Given the description of an element on the screen output the (x, y) to click on. 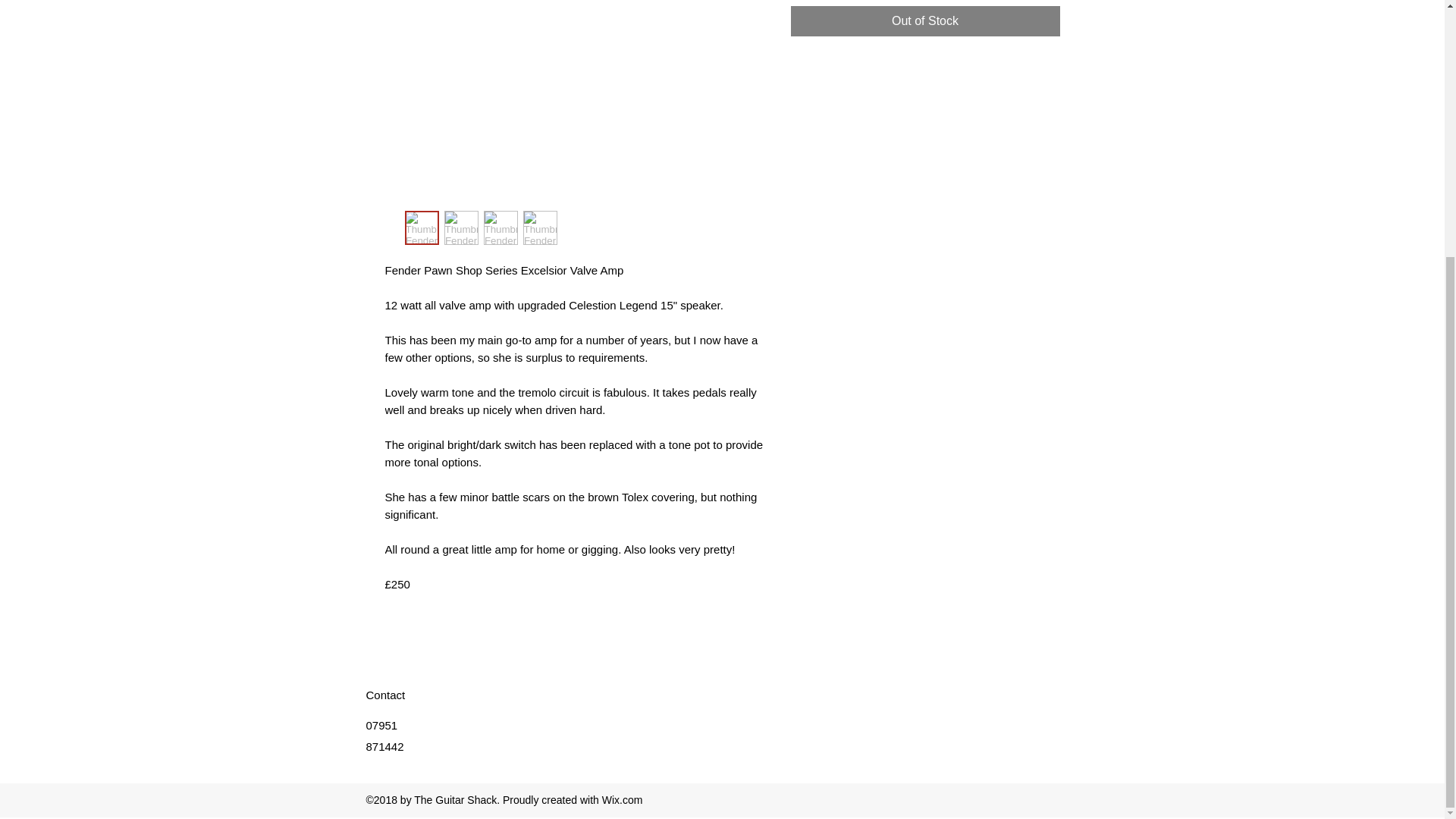
Out of Stock (924, 20)
